Given the description of an element on the screen output the (x, y) to click on. 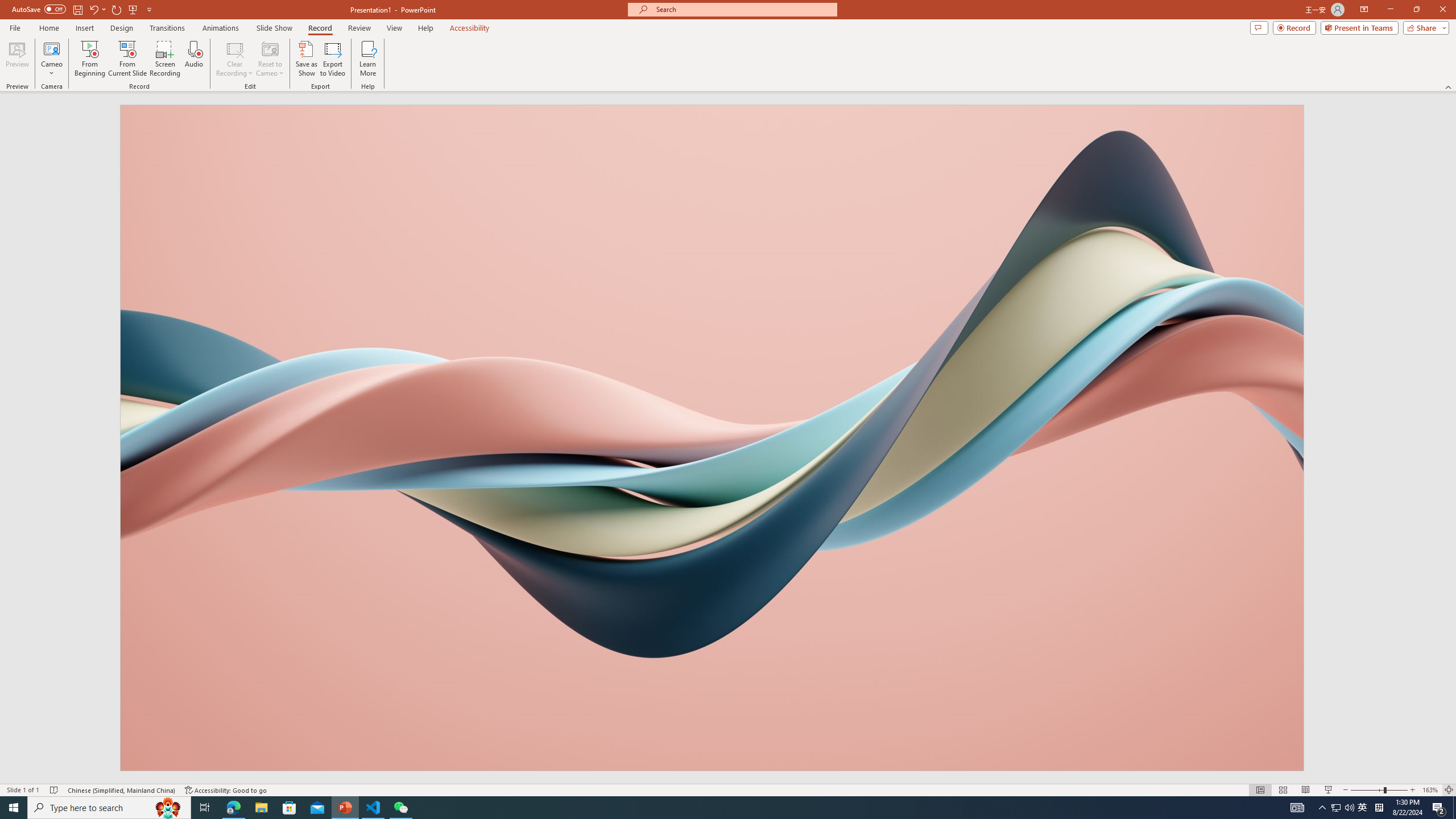
Accessibility Checker Accessibility: Good to go (226, 790)
Reset to Cameo (269, 58)
